Given the description of an element on the screen output the (x, y) to click on. 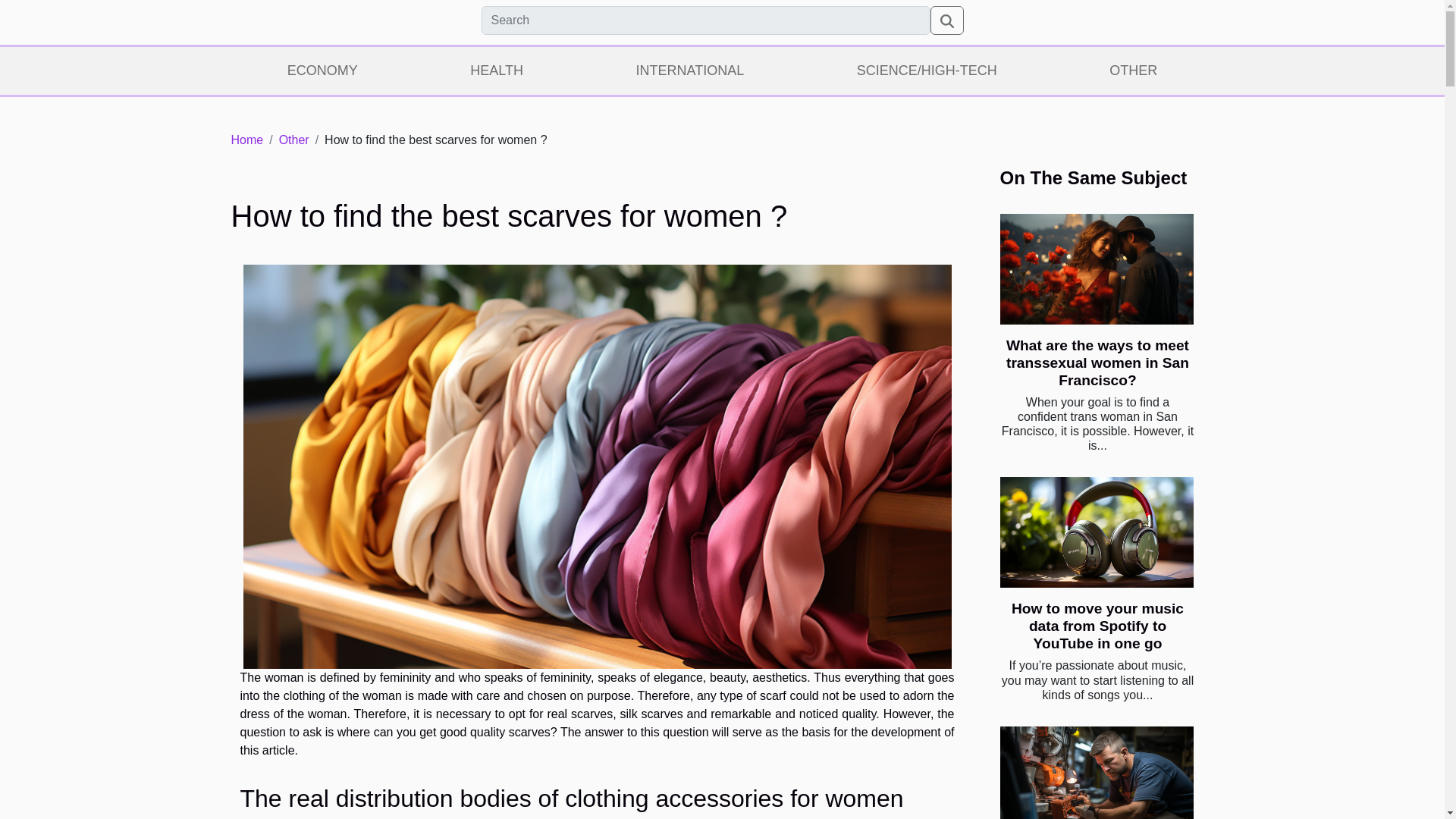
Other (293, 139)
Other (293, 139)
OTHER (1133, 70)
What you need to know when repairing a toilet (1095, 772)
ECONOMY (322, 70)
INTERNATIONAL (689, 70)
HEALTH (496, 70)
Home (246, 139)
